Given the description of an element on the screen output the (x, y) to click on. 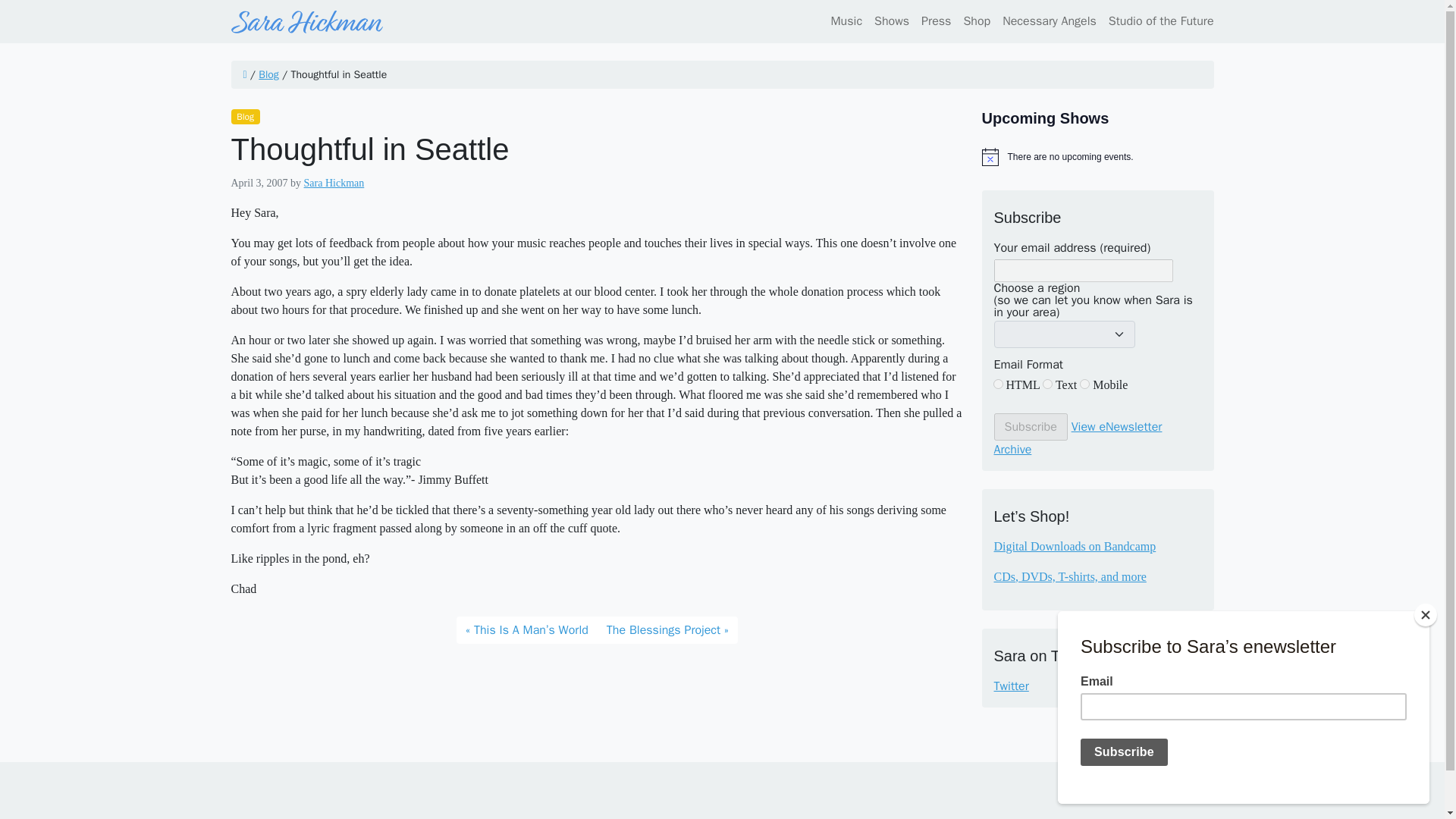
Shows (891, 20)
Posts by Sara Hickman (334, 183)
Blog (244, 116)
Necessary Angels (1048, 20)
Press (935, 20)
html (997, 384)
CDs, DVDs, T-shirts, and more (1068, 576)
Twitter (1096, 686)
Sara Hickman (334, 183)
Digital Downloads on Bandcamp (1074, 545)
The Blessings Project (667, 629)
View eNewsletter Archive (1076, 438)
Blog (269, 74)
Subscribe (1029, 426)
Subscribe (1029, 426)
